Given the description of an element on the screen output the (x, y) to click on. 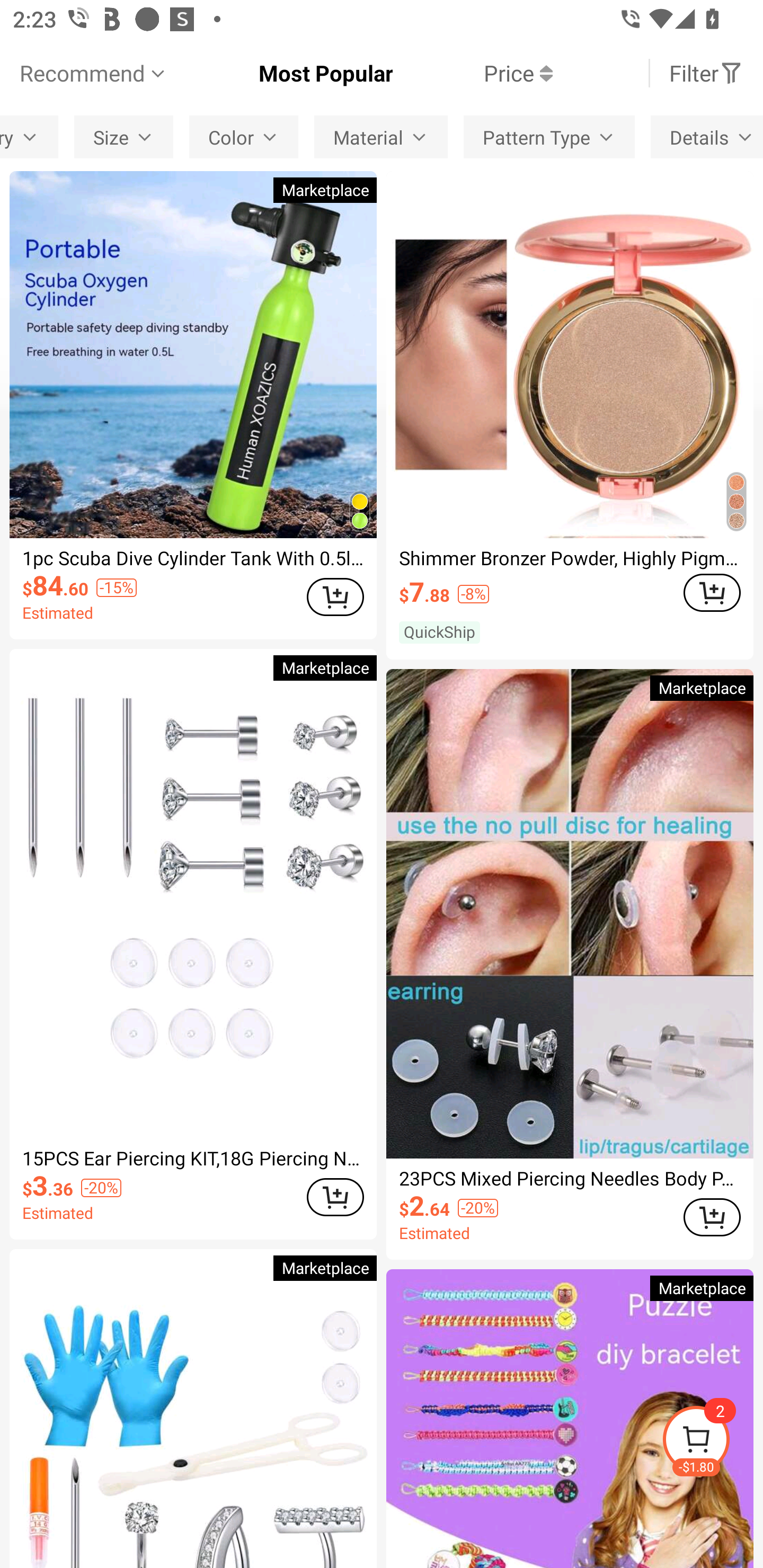
Recommend (93, 72)
Most Popular (280, 72)
Price (472, 72)
Filter (705, 72)
Category (28, 137)
Size (123, 137)
Color (243, 137)
Material (380, 137)
Pattern Type (548, 137)
Details (706, 137)
ADD TO CART (711, 592)
ADD TO CART (334, 597)
ADD TO CART (334, 1196)
ADD TO CART (711, 1217)
-$1.80 (712, 1441)
